Given the description of an element on the screen output the (x, y) to click on. 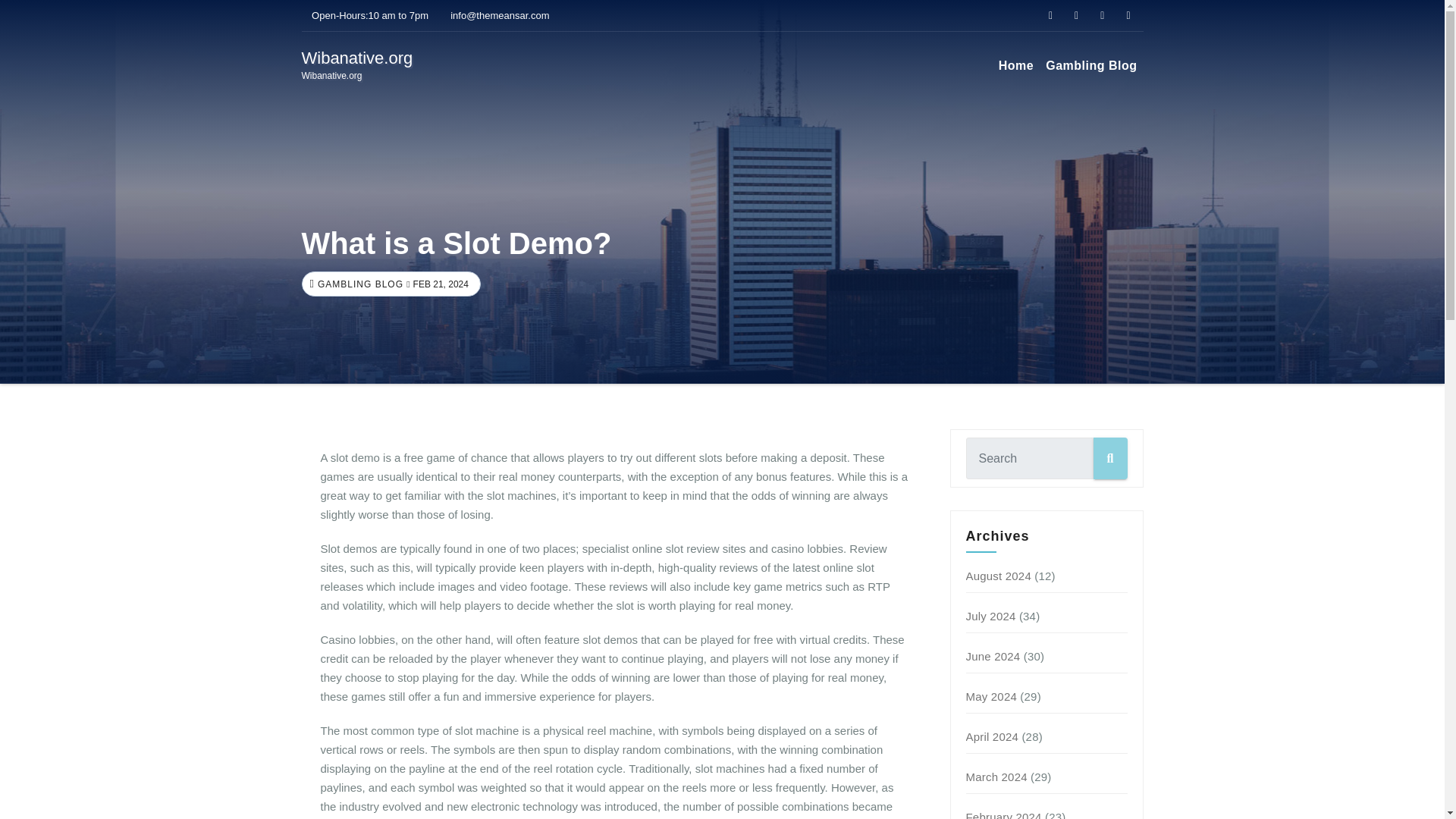
July 2024 (991, 615)
February 2024 (1004, 814)
April 2024 (992, 736)
Open-Hours:10 am to 7pm (365, 15)
May 2024 (991, 696)
March 2024 (996, 776)
Gambling Blog (1090, 65)
August 2024 (998, 575)
GAMBLING BLOG (357, 65)
